Given the description of an element on the screen output the (x, y) to click on. 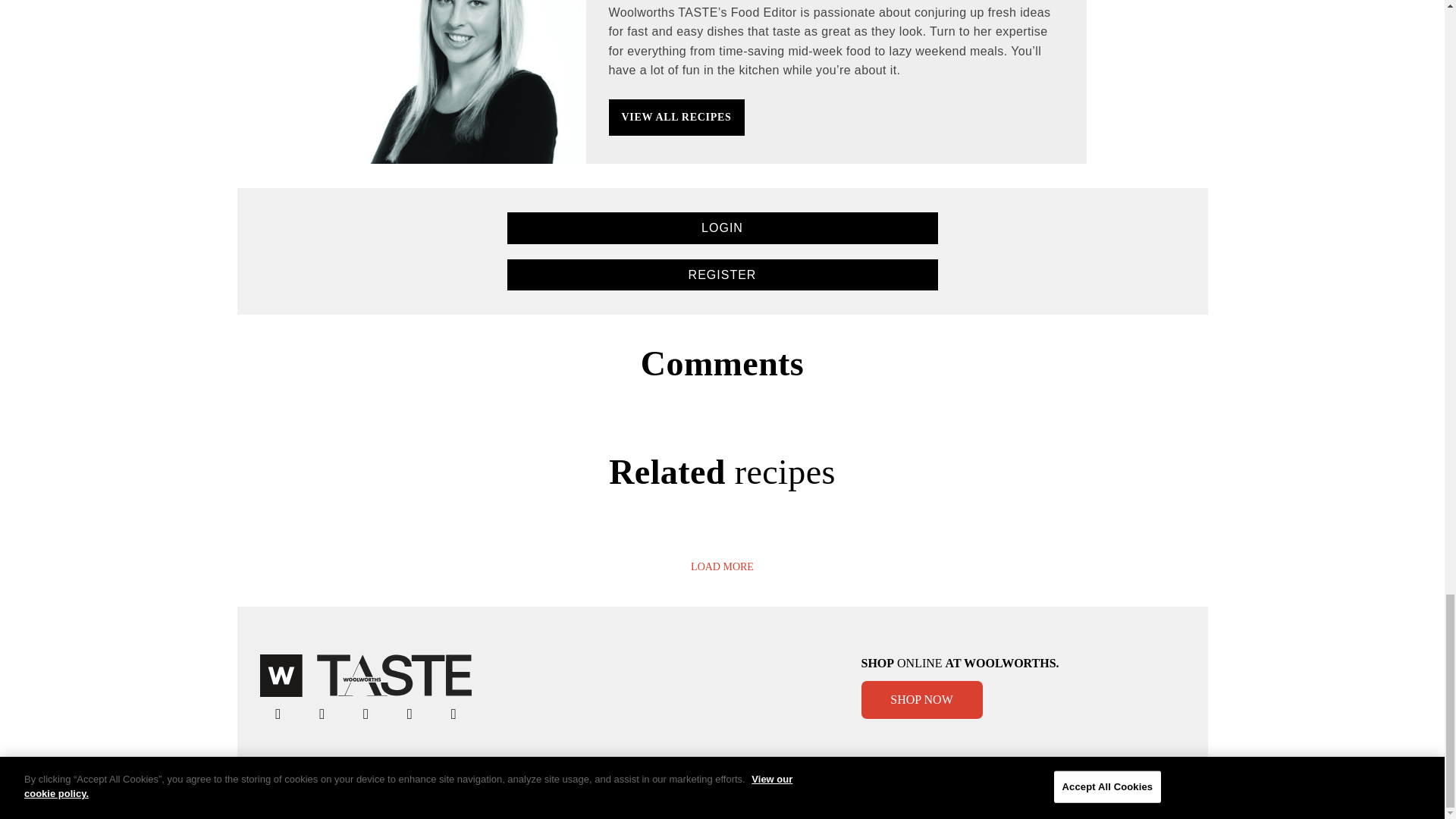
LOAD MORE (721, 566)
